Given the description of an element on the screen output the (x, y) to click on. 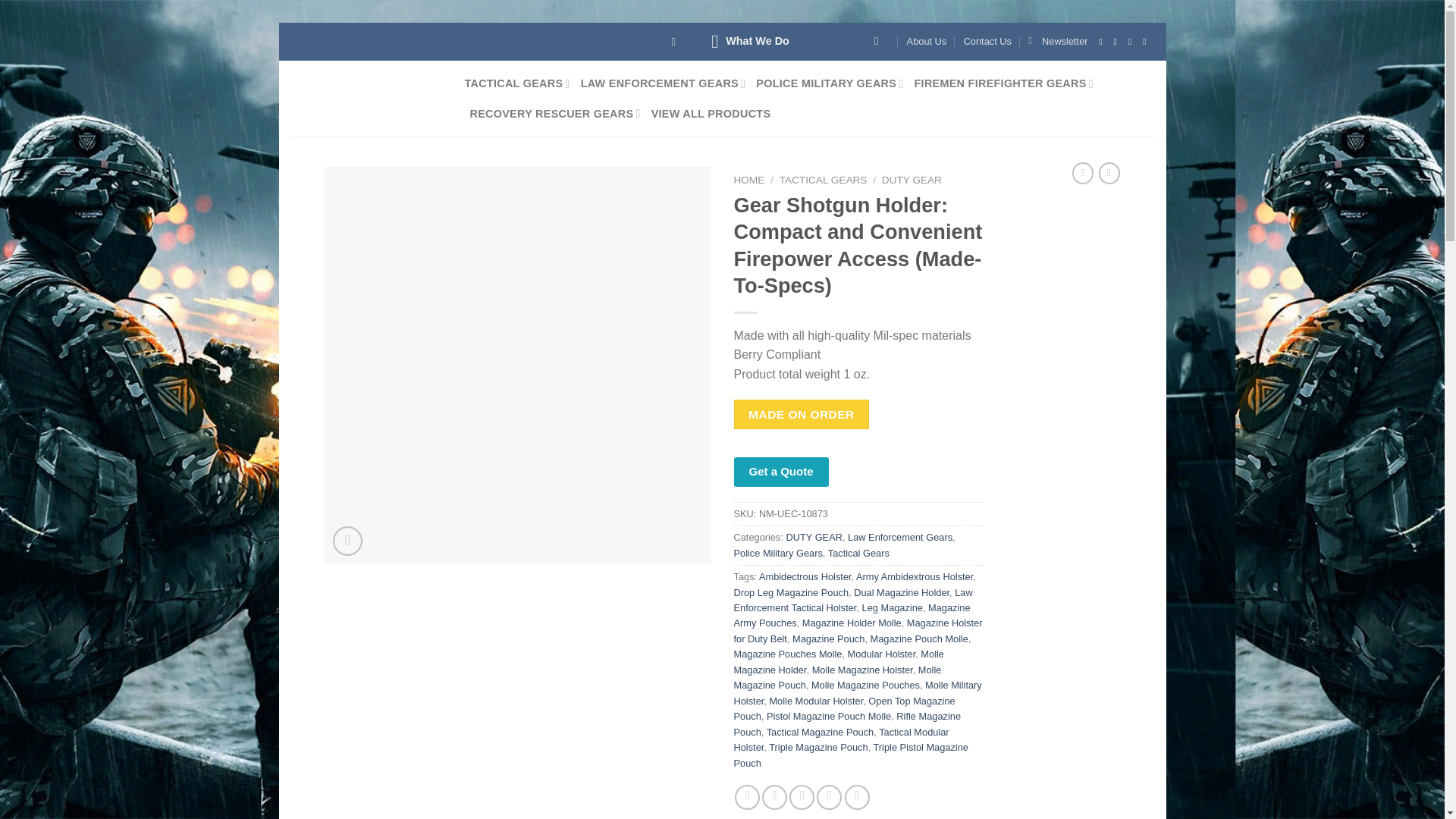
TACTICAL GEARS (516, 83)
Share on Facebook (747, 796)
LAW ENFORCEMENT GEARS (662, 83)
Zoom (347, 541)
